Given the description of an element on the screen output the (x, y) to click on. 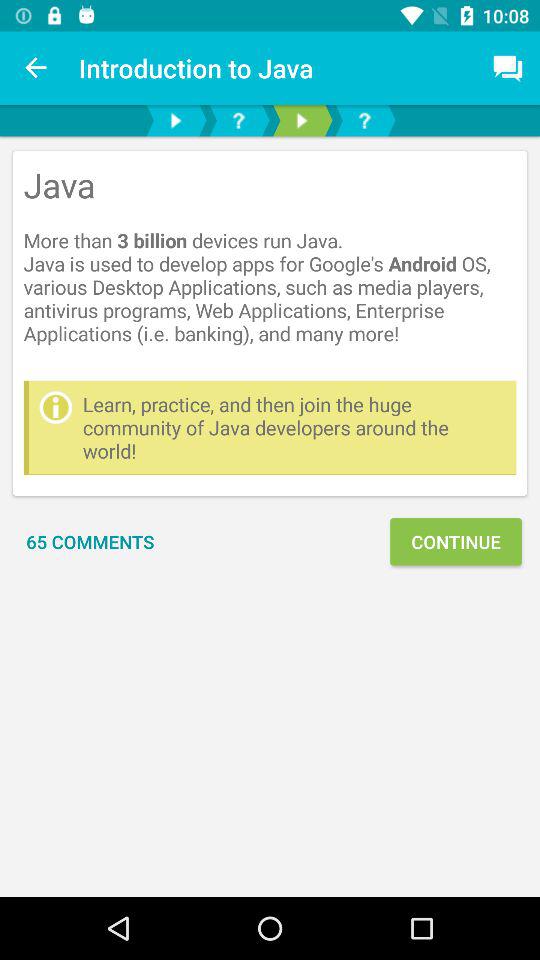
go to next page (301, 120)
